Given the description of an element on the screen output the (x, y) to click on. 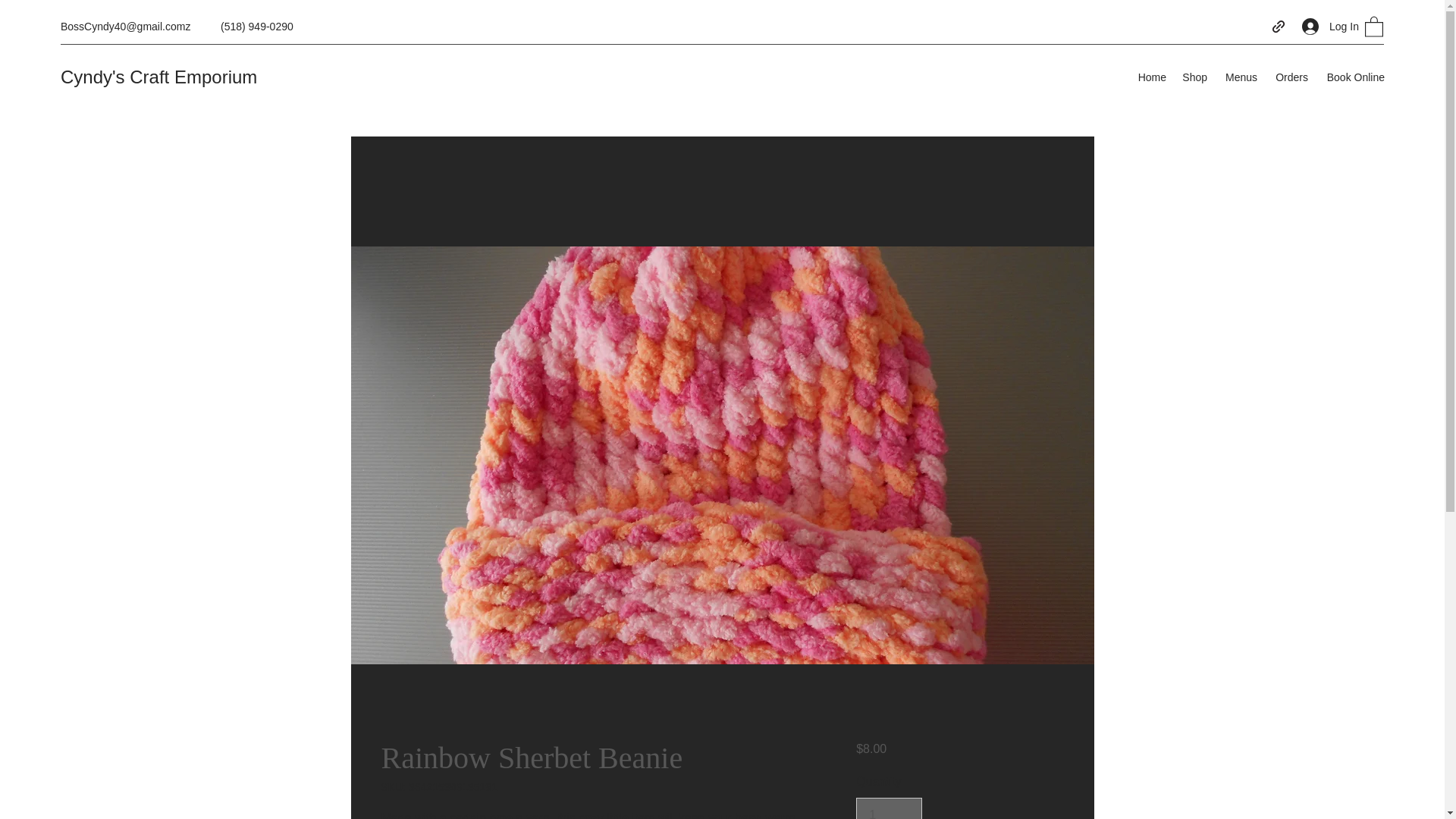
Orders (1290, 77)
Menus (1239, 77)
Home (1151, 77)
Book Online (1353, 77)
1 (888, 808)
Log In (1325, 26)
Shop (1193, 77)
